Given the description of an element on the screen output the (x, y) to click on. 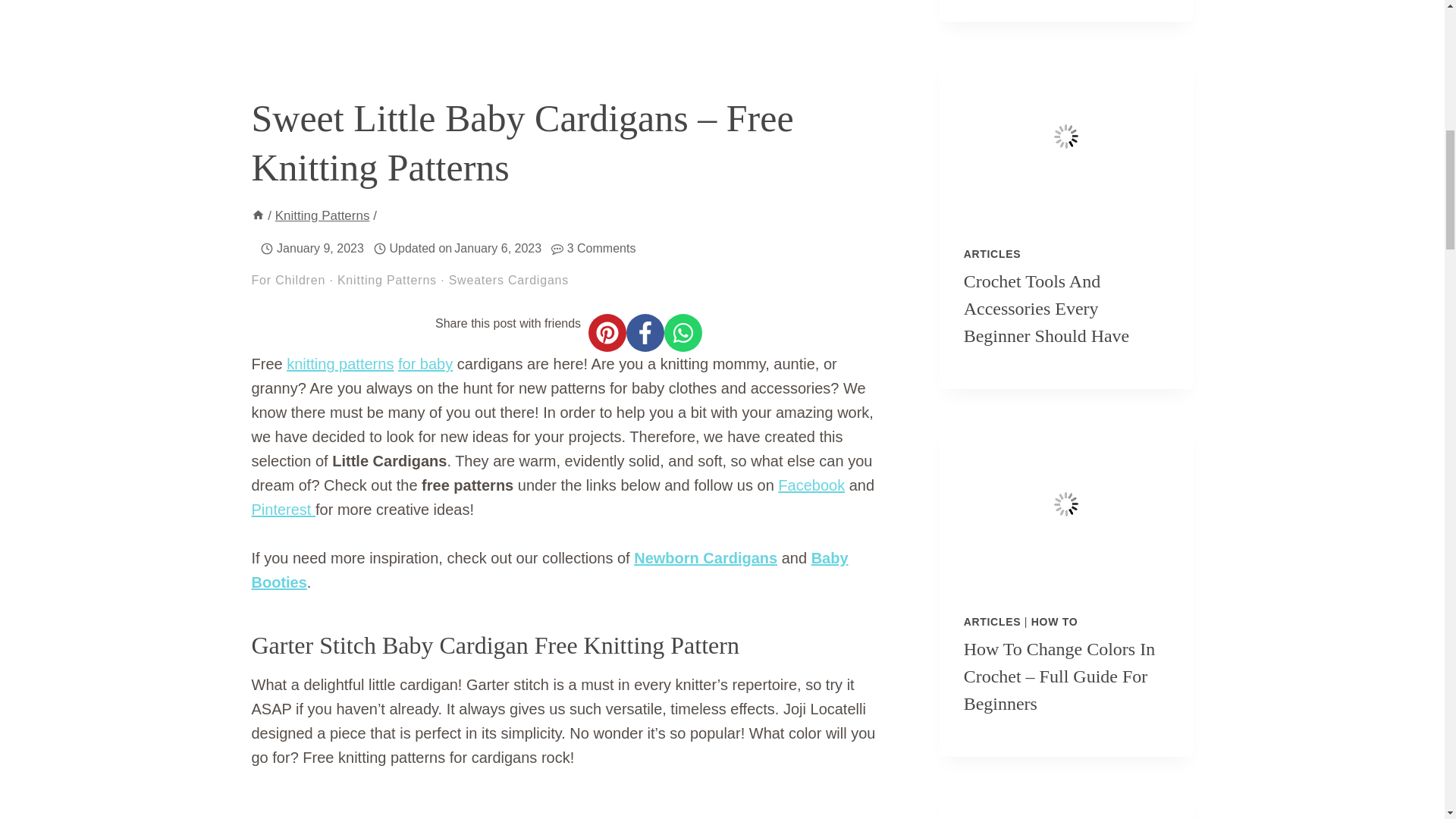
Home (257, 215)
3 Comments (601, 248)
